Given the description of an element on the screen output the (x, y) to click on. 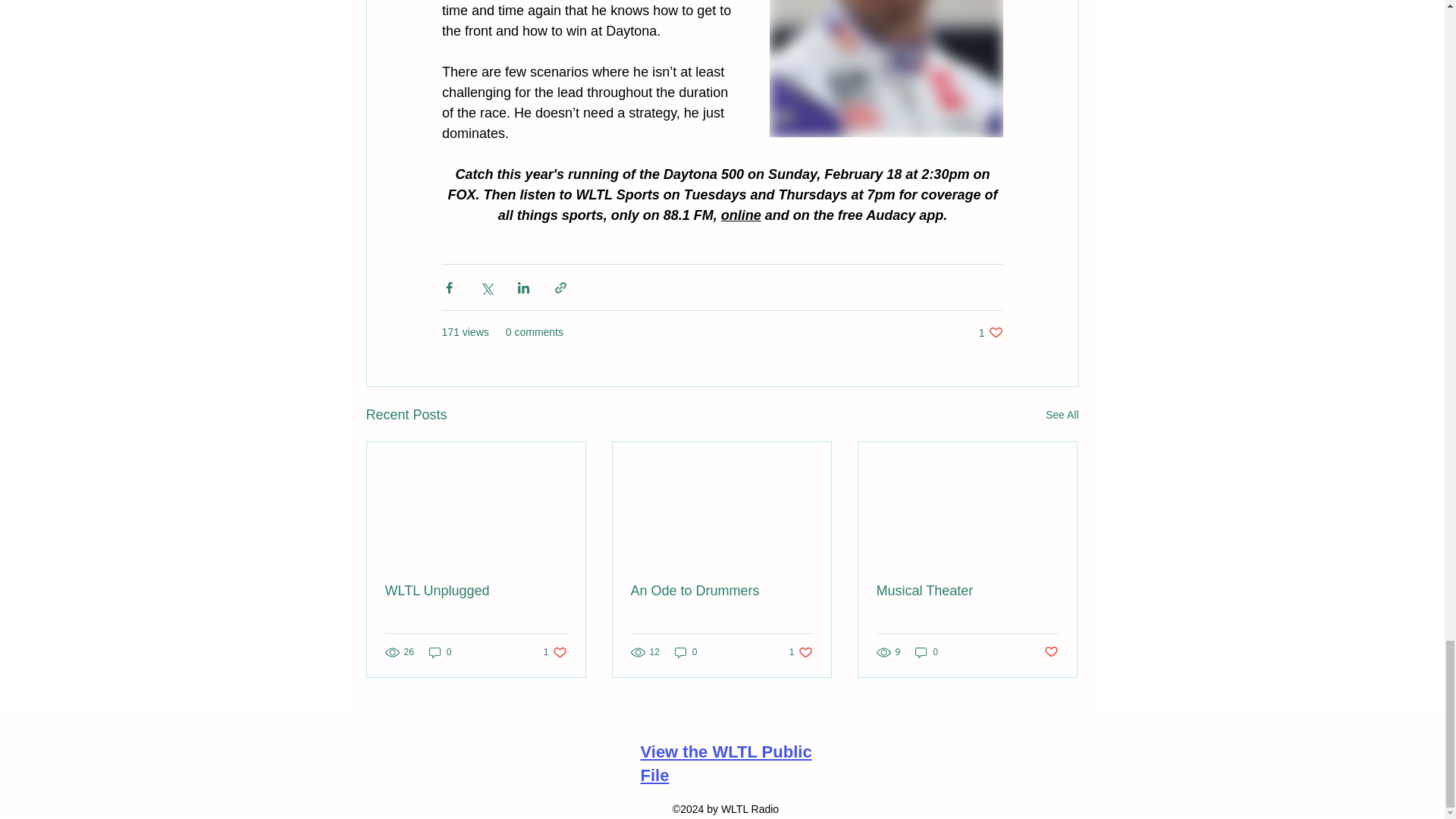
0 (440, 652)
WLTL Unplugged (555, 652)
online (476, 590)
An Ode to Drummers (740, 215)
See All (990, 332)
